Given the description of an element on the screen output the (x, y) to click on. 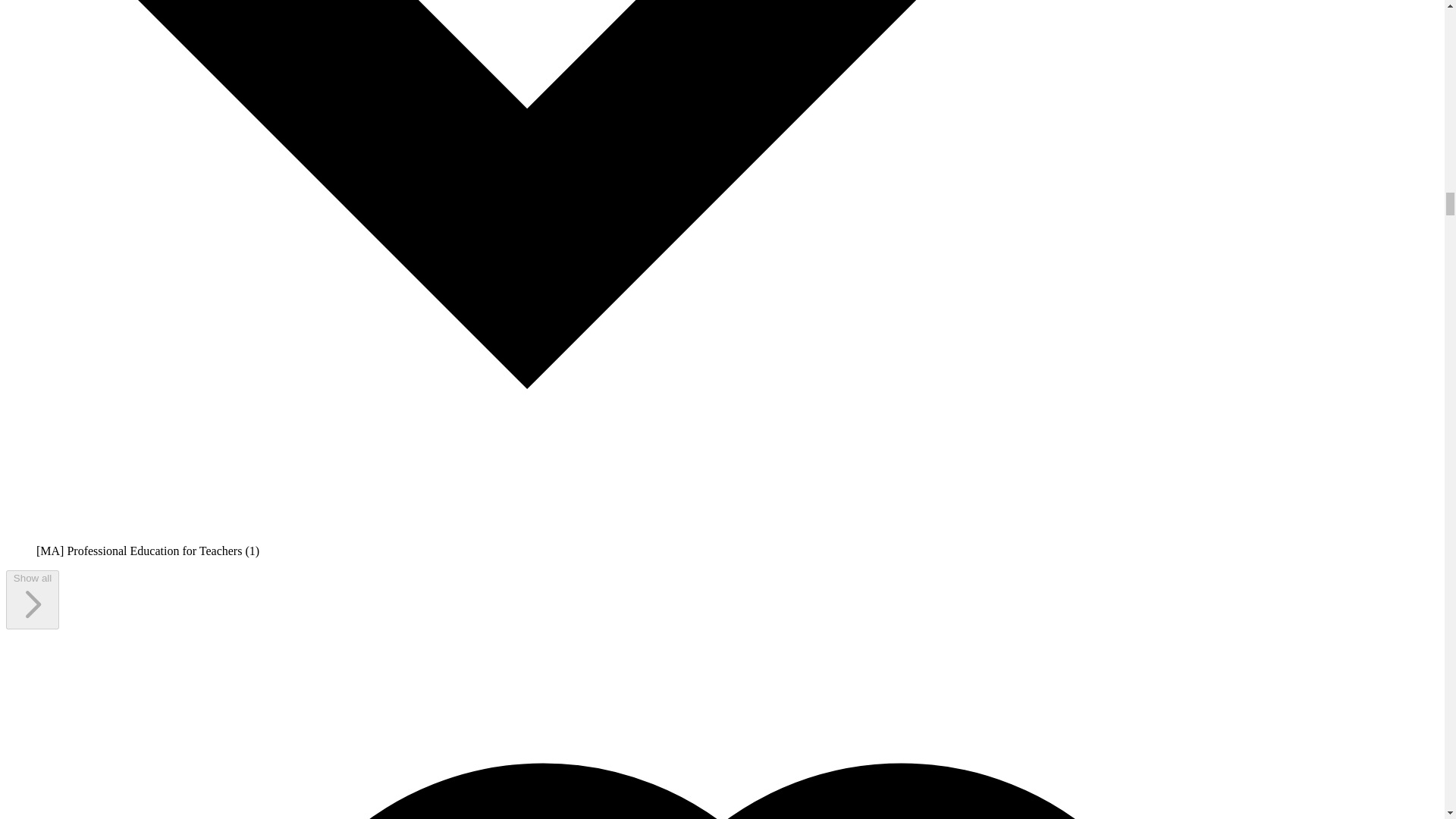
Show all (32, 599)
